Given the description of an element on the screen output the (x, y) to click on. 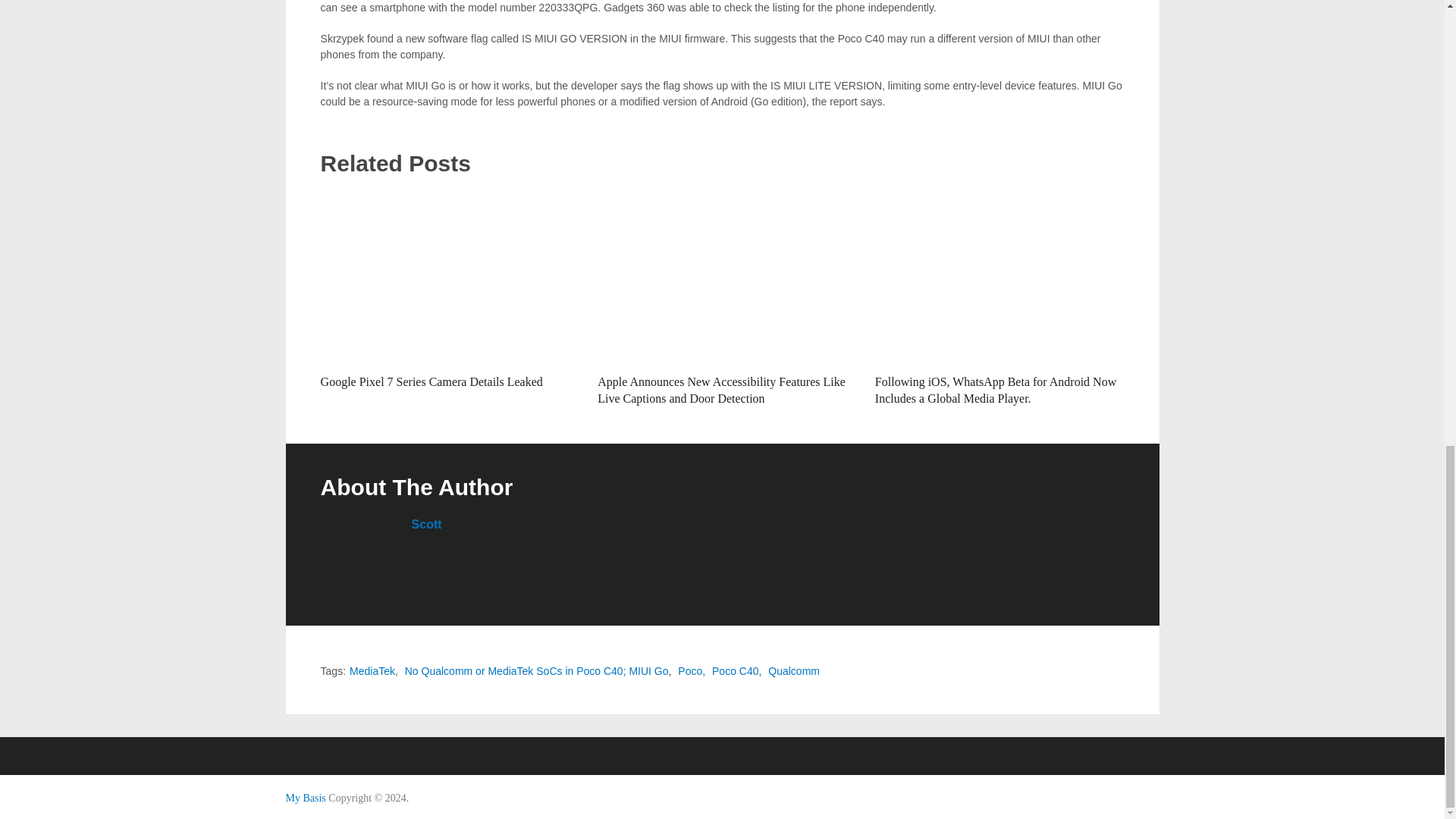
My Basis (304, 797)
Google Pixel 7 Series Camera Details Leaked (445, 277)
MediaTek (371, 671)
Scott (427, 523)
Google Pixel 7 Series Camera Details Leaked (431, 381)
No Qualcomm or MediaTek SoCs in Poco C40; MIUI Go (536, 671)
Google Pixel 7 Series Camera Details Leaked (431, 381)
Qualcomm (793, 671)
Poco (689, 671)
